Given the description of an element on the screen output the (x, y) to click on. 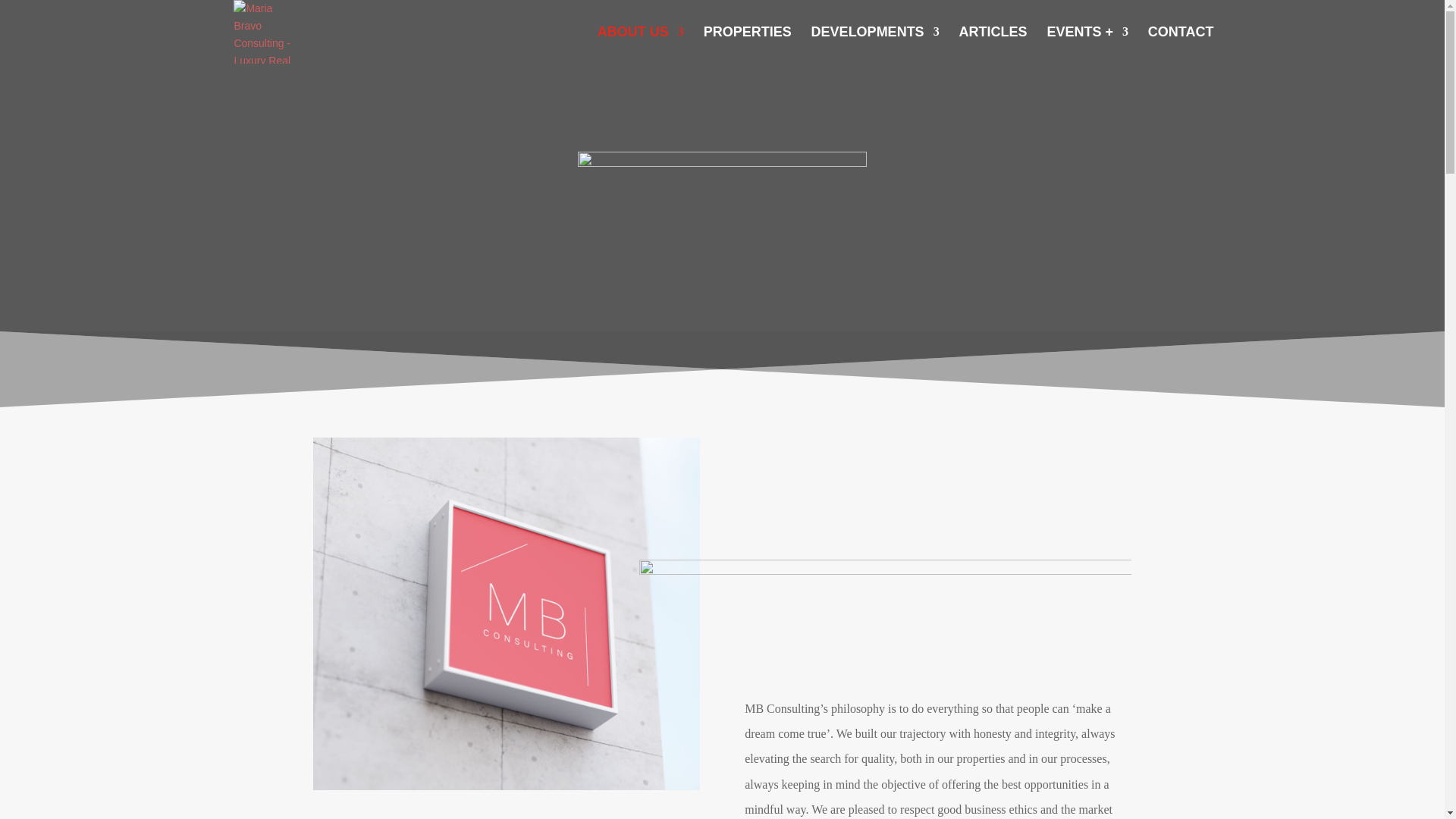
to fulfill a dream (885, 616)
ARTICLES (993, 44)
About us (722, 183)
PROPERTIES (747, 44)
CONTACT (1181, 44)
DEVELOPMENTS (874, 44)
ABOUT US (640, 44)
